Given the description of an element on the screen output the (x, y) to click on. 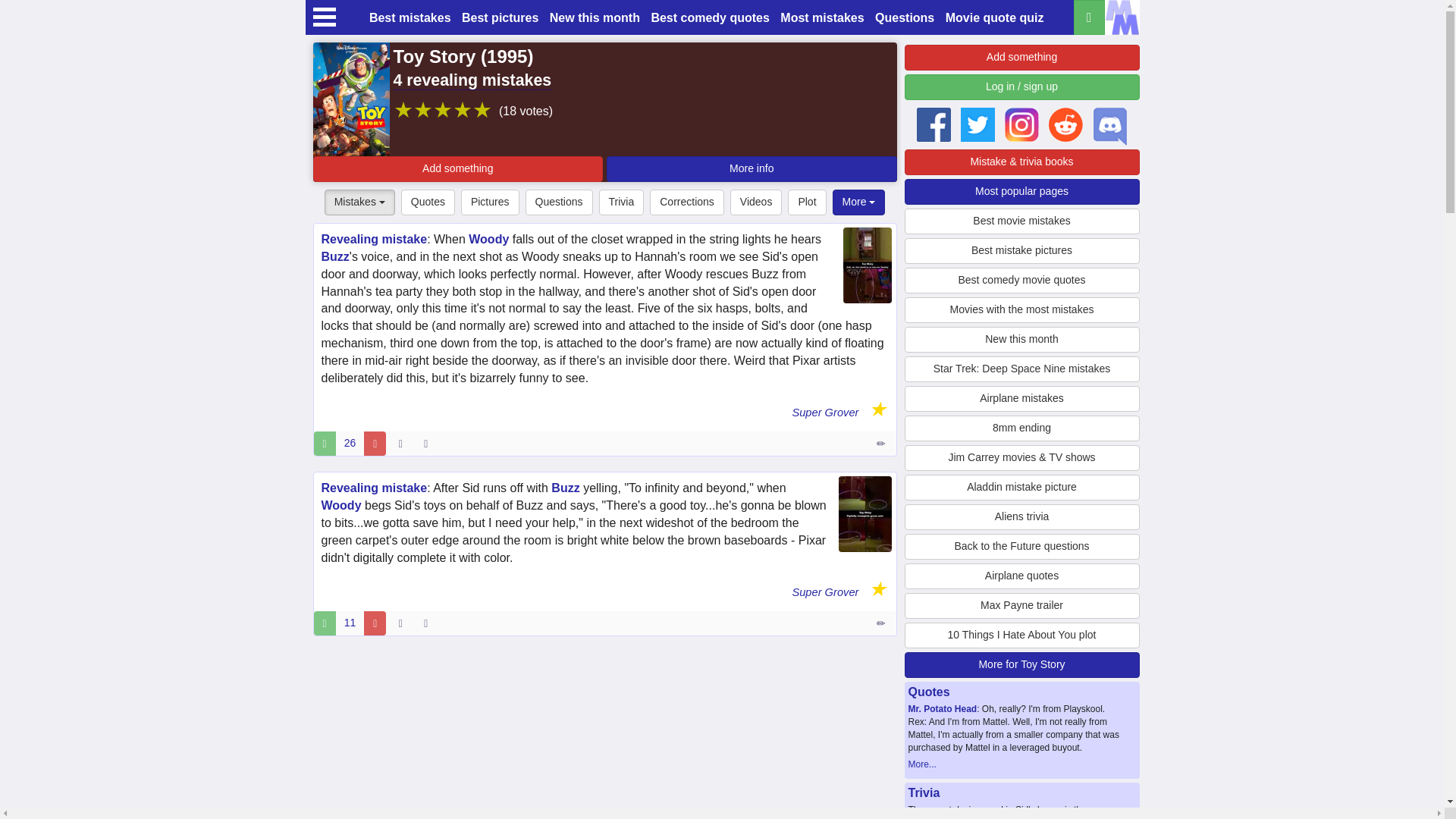
Share this entry (429, 443)
I dislike this (374, 622)
Share this entry (429, 622)
I dislike this (374, 443)
I like this (325, 443)
I like this (325, 622)
Entry 218143 (881, 622)
Entry 218249 (881, 443)
